Given the description of an element on the screen output the (x, y) to click on. 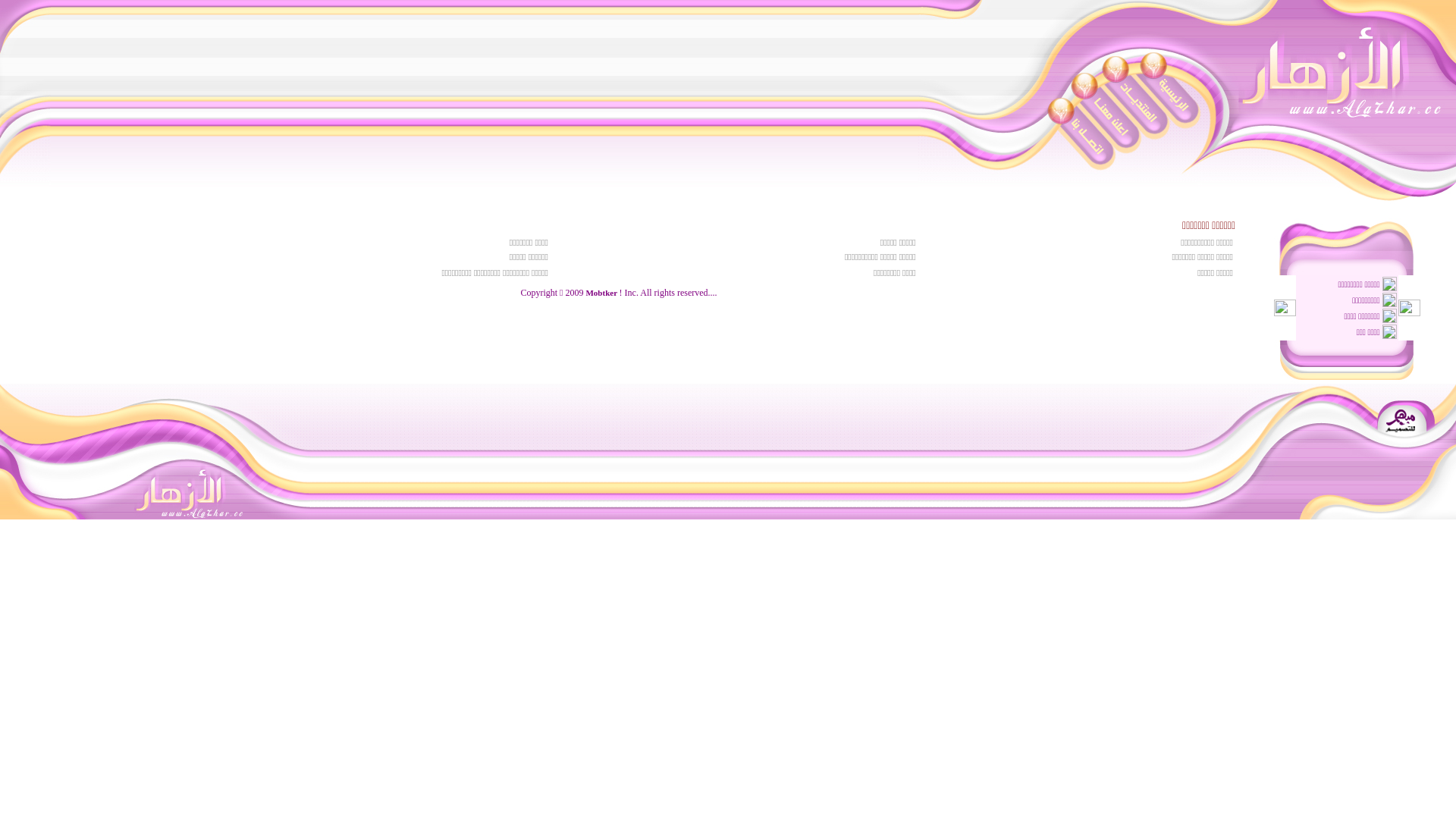
Mobtker Element type: text (601, 292)
